Given the description of an element on the screen output the (x, y) to click on. 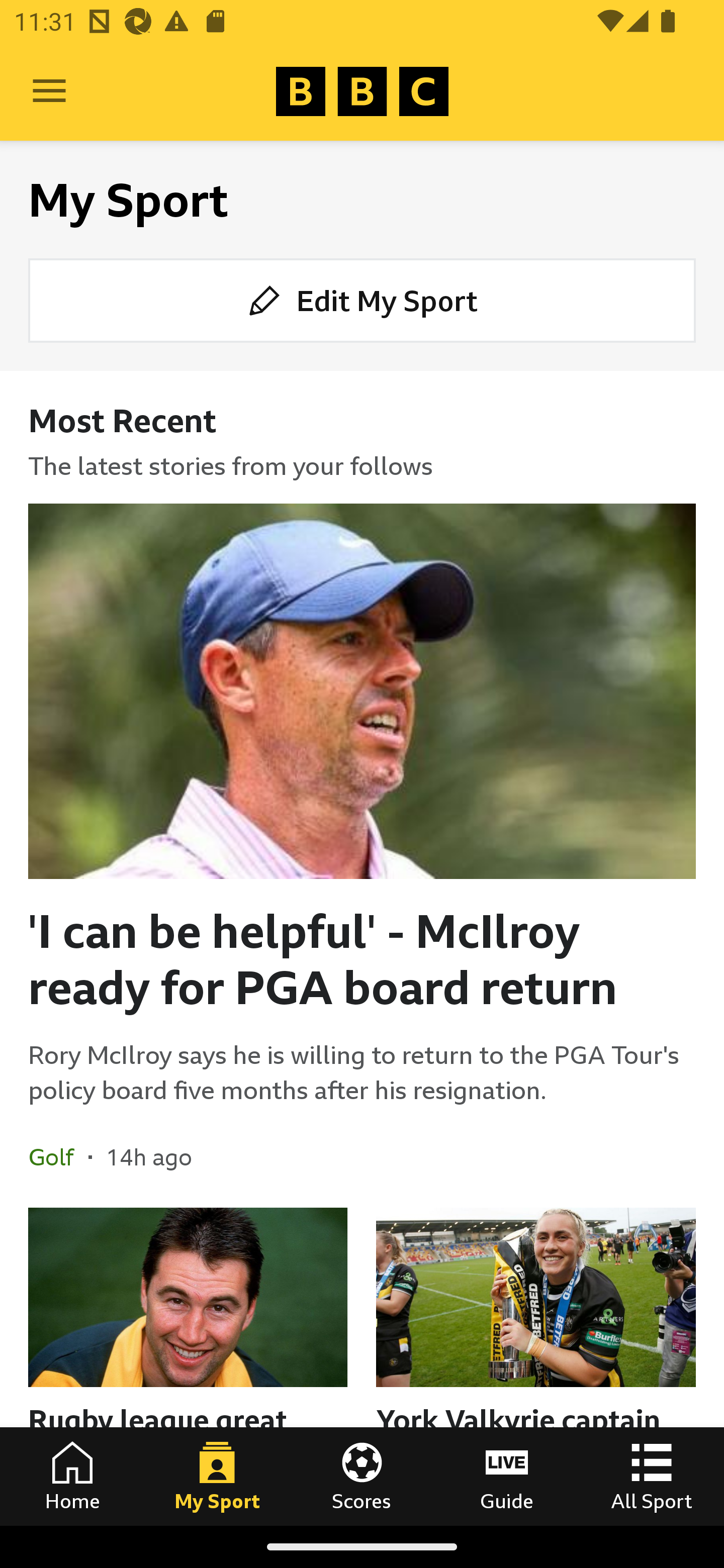
Open Menu (49, 91)
Edit My Sport (361, 300)
Golf In the section Golf (58, 1156)
Home (72, 1475)
Scores (361, 1475)
Guide (506, 1475)
All Sport (651, 1475)
